Given the description of an element on the screen output the (x, y) to click on. 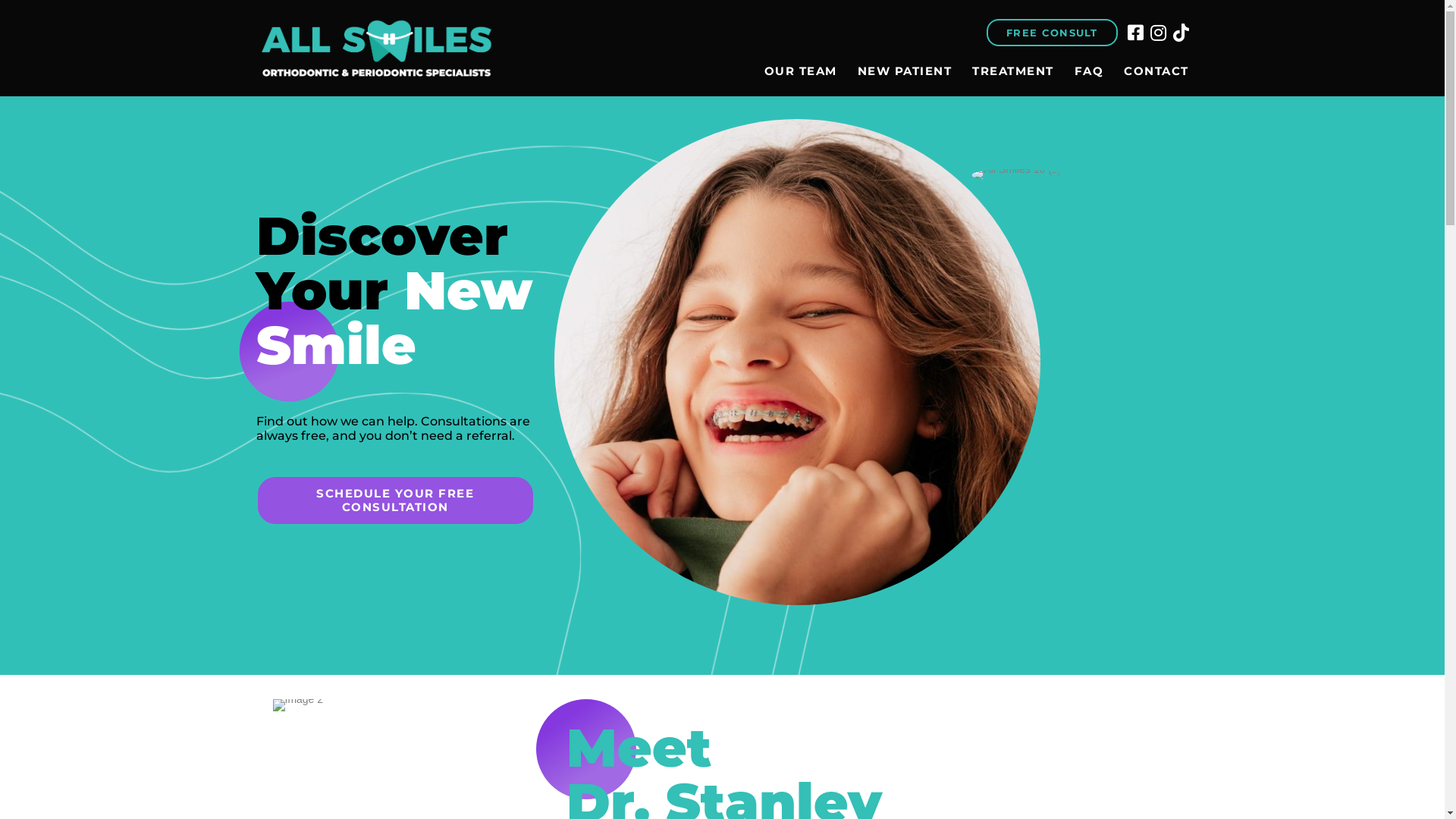
Ellipse 20 Element type: hover (288, 351)
SCHEDULE YOUR FREE CONSULTATION Element type: text (395, 500)
FAQ Element type: text (1088, 70)
FREE CONSULT Element type: text (1051, 32)
CONTACT Element type: text (1155, 70)
Image 2 Element type: hover (298, 705)
AllSmiles_OrthoPerio_FullColor-1-e1683045023551 Element type: hover (377, 47)
All Smiles 10 (1) Element type: hover (1015, 175)
Ellipse 16 Element type: hover (585, 749)
NEW PATIENT Element type: text (904, 70)
TREATMENT Element type: text (1012, 70)
OUR TEAM Element type: text (800, 70)
